Given the description of an element on the screen output the (x, y) to click on. 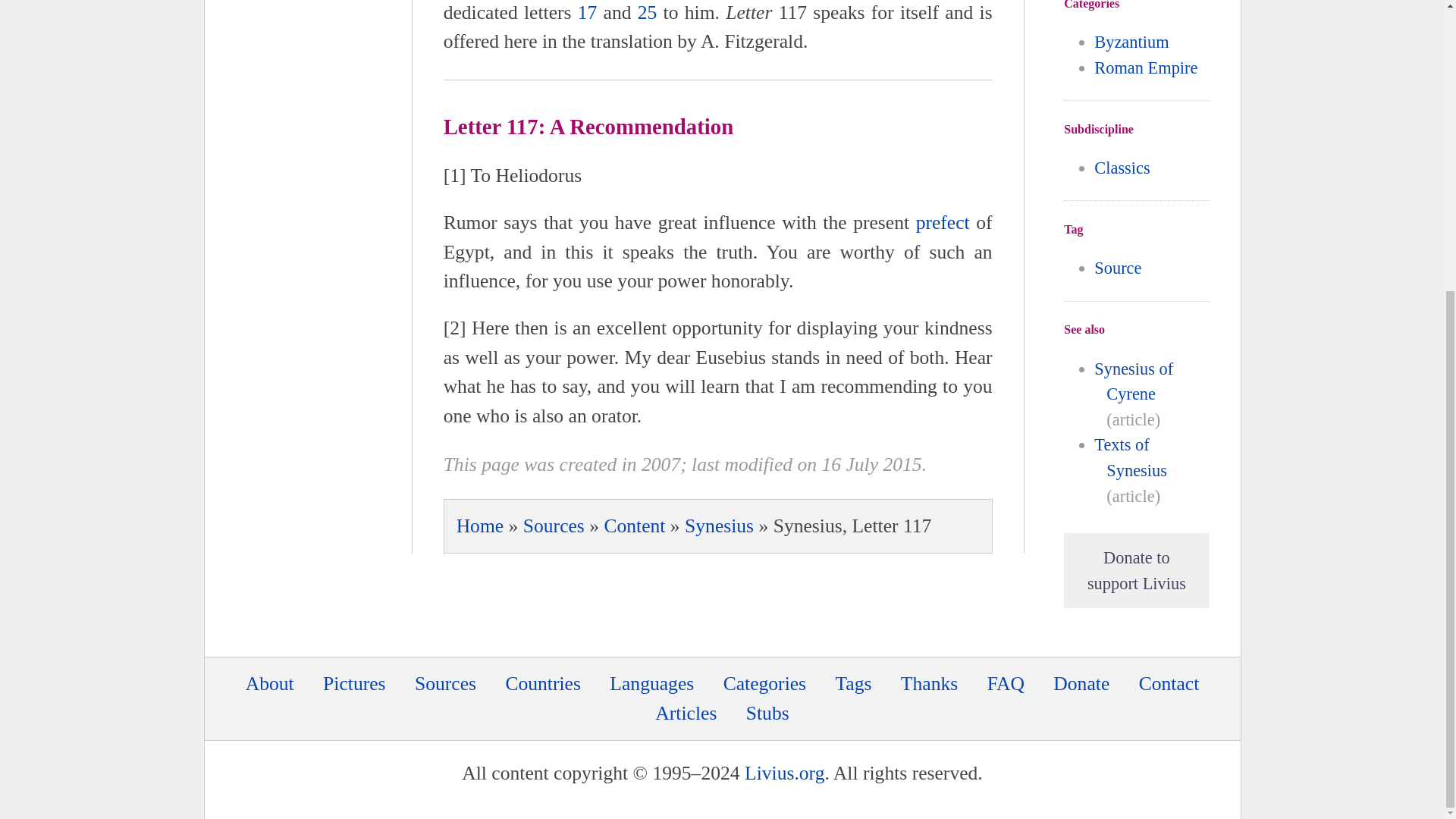
FAQ (1006, 683)
Languages (652, 683)
Pictures (354, 683)
About (270, 683)
Home (480, 526)
Synesius (719, 526)
Categories (764, 683)
17 (587, 12)
25 (647, 12)
Tags (852, 683)
